Given the description of an element on the screen output the (x, y) to click on. 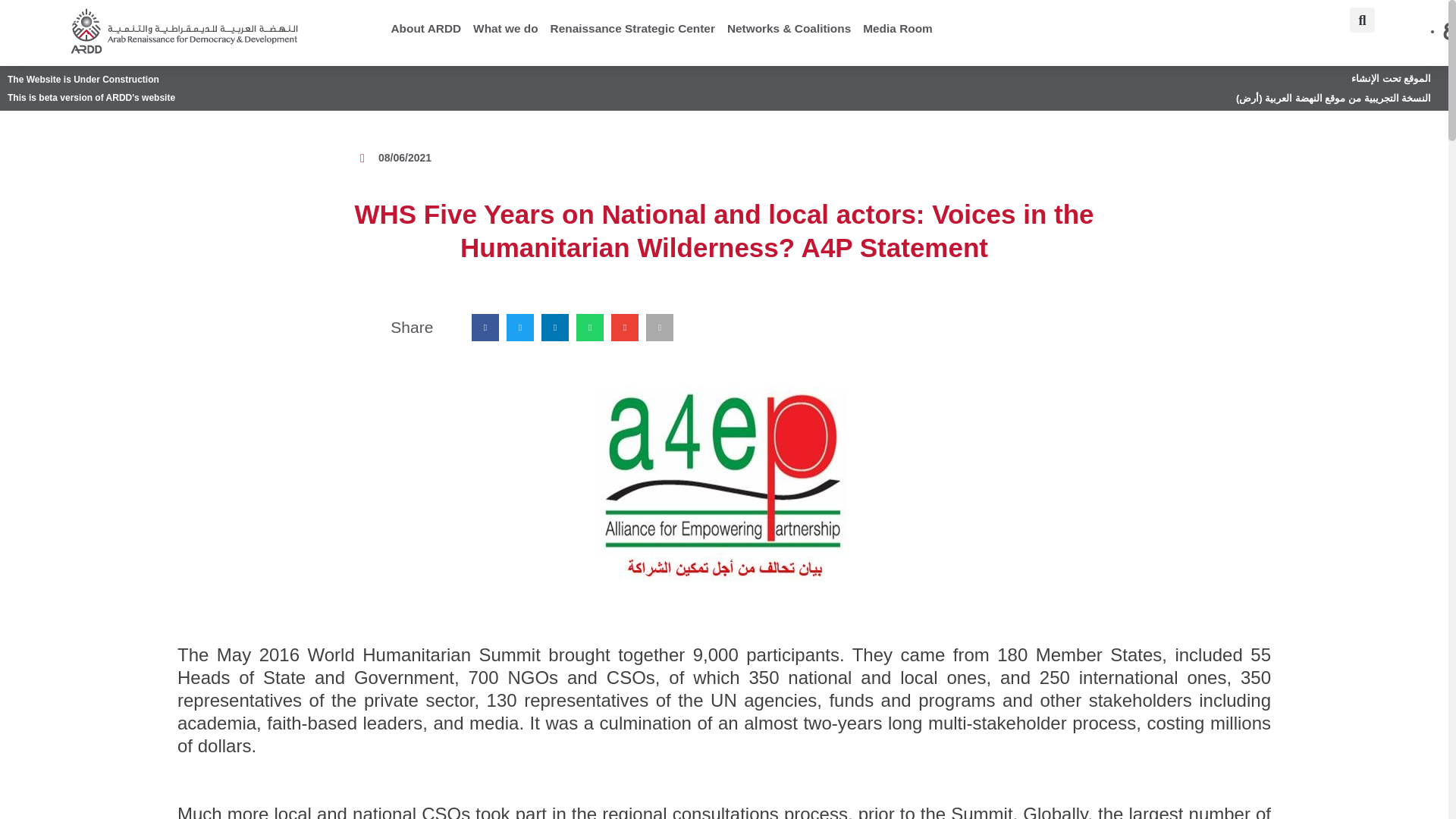
Media Room (898, 28)
About ARDD (426, 28)
Renaissance Strategic Center (632, 28)
What we do (505, 28)
